Given the description of an element on the screen output the (x, y) to click on. 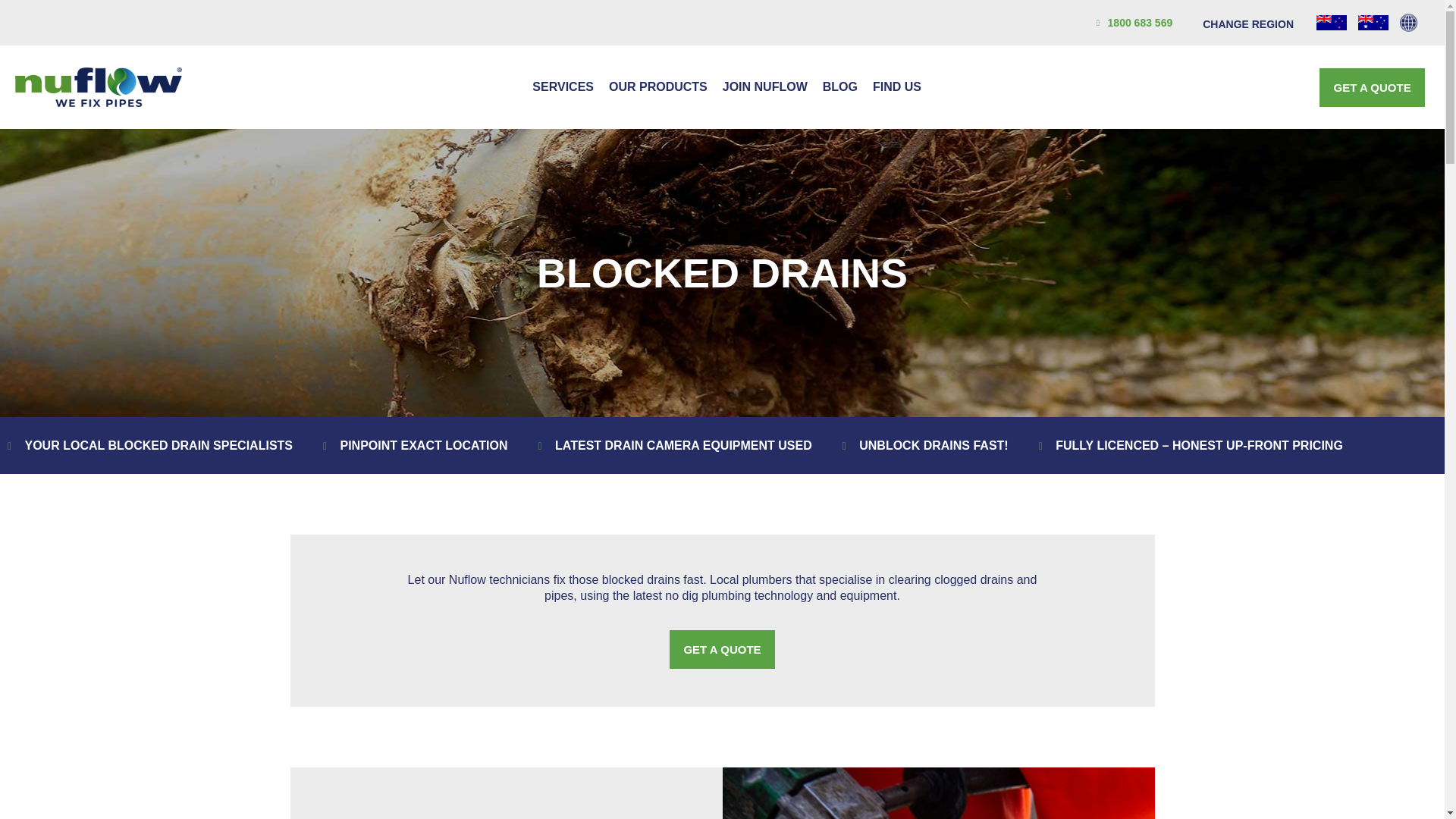
OUR PRODUCTS (657, 86)
1800 683 569 (1133, 22)
JOIN NUFLOW (764, 86)
SERVICES (562, 86)
BLOG (839, 86)
